Given the description of an element on the screen output the (x, y) to click on. 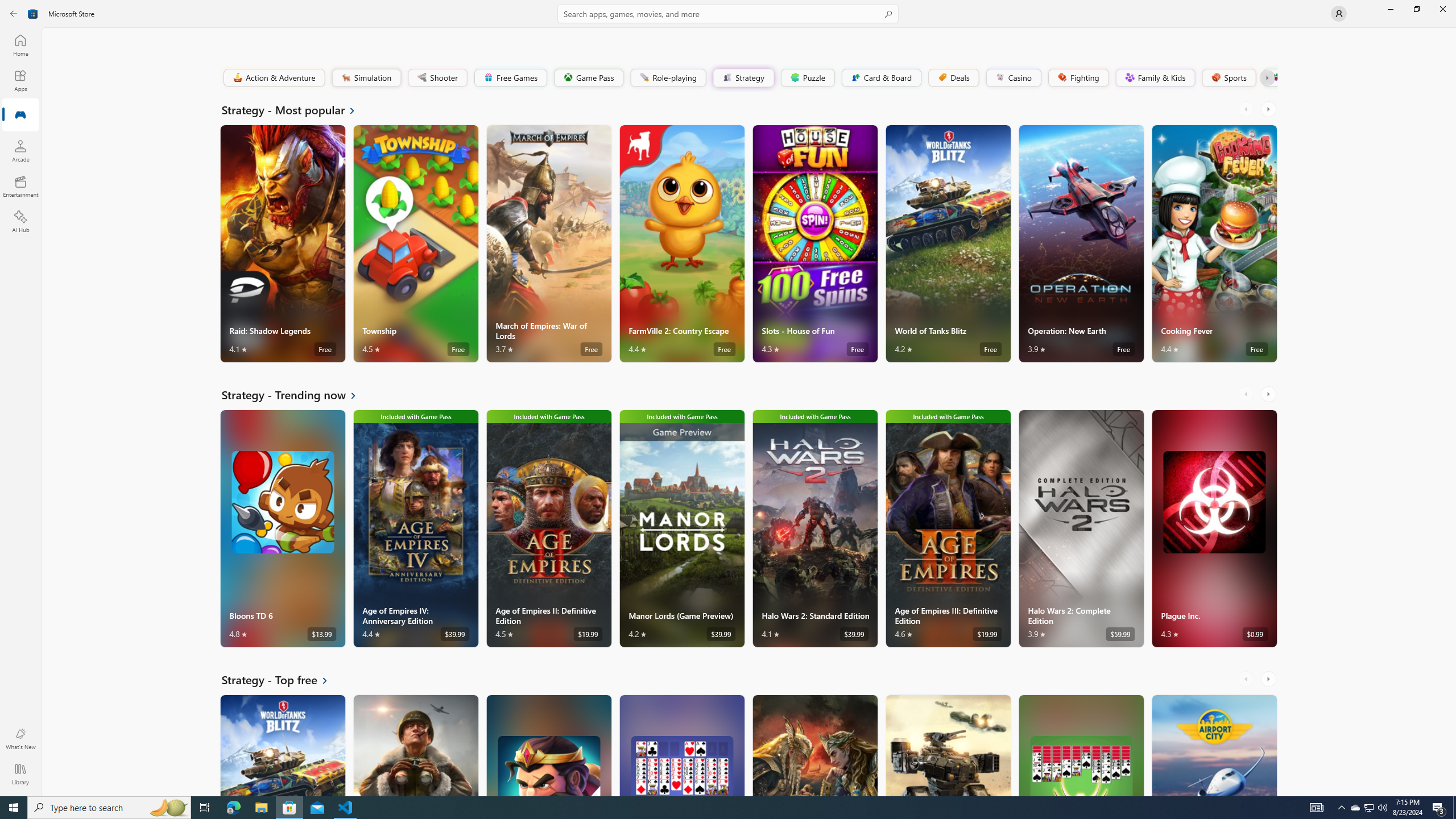
Restore Microsoft Store (1416, 9)
Game Pass (588, 77)
Class: Image (1274, 76)
Strategy (742, 77)
Role-playing (668, 77)
AutomationID: RightScrollButton (1269, 678)
Puzzle (807, 77)
Sports (1228, 77)
